Given the description of an element on the screen output the (x, y) to click on. 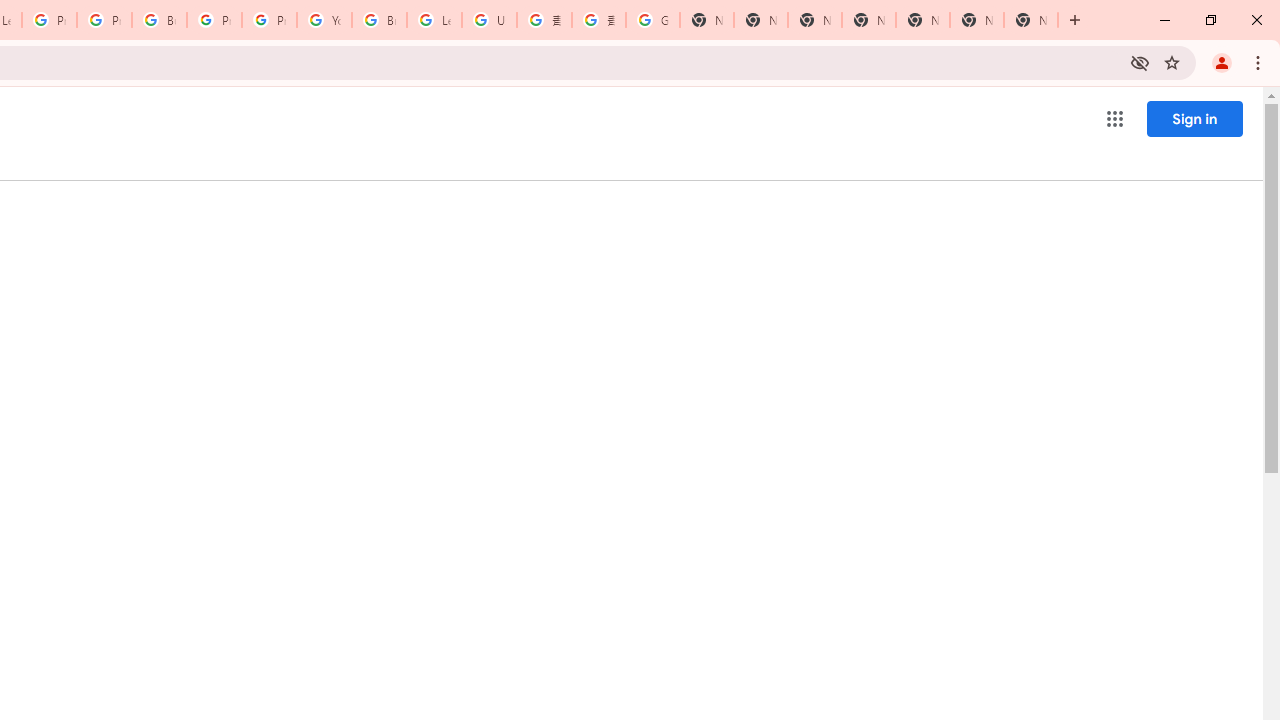
New Tab (1030, 20)
Privacy Help Center - Policies Help (48, 20)
Privacy Help Center - Policies Help (103, 20)
Google Images (652, 20)
